Given the description of an element on the screen output the (x, y) to click on. 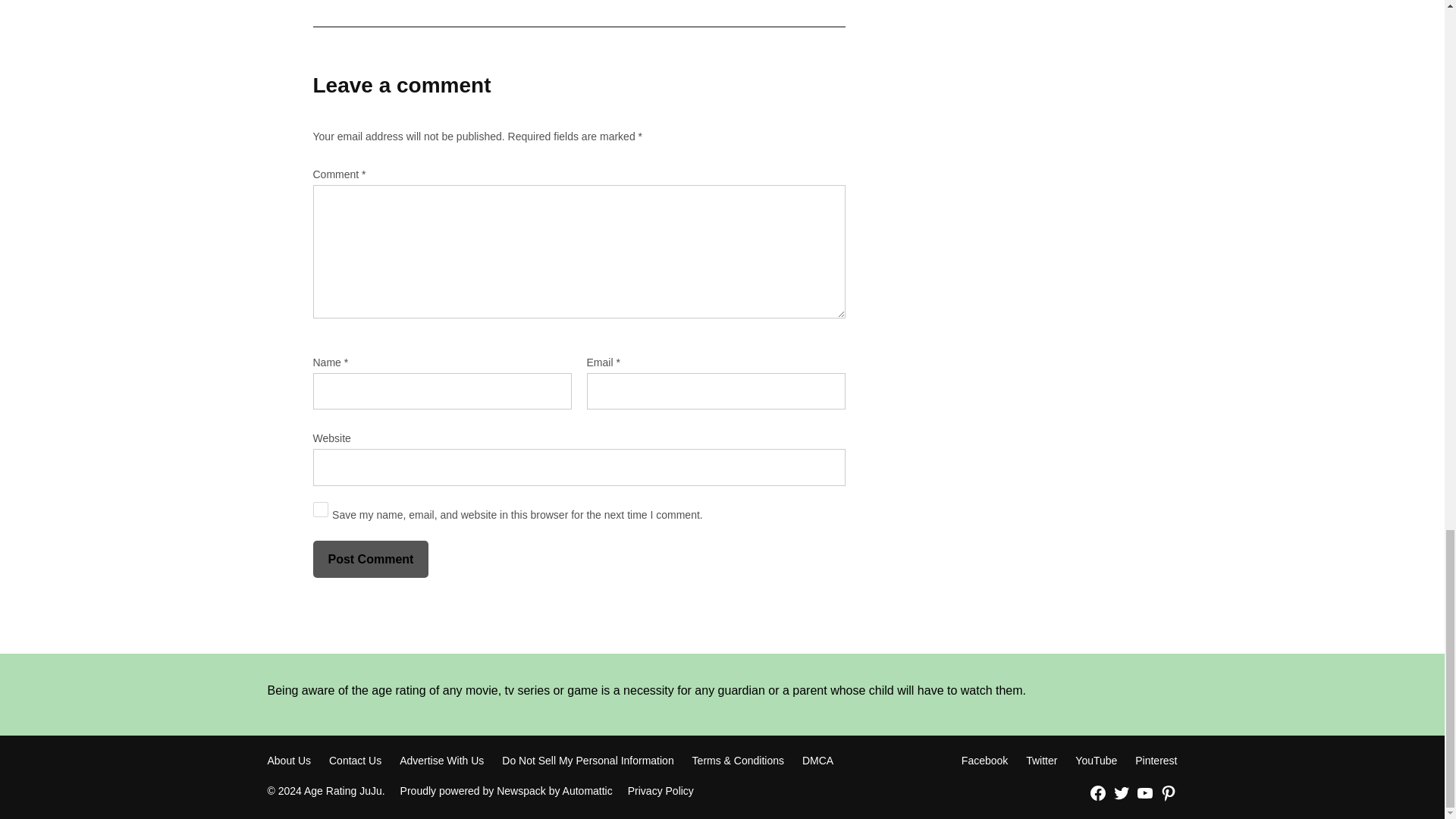
yes (320, 509)
Post Comment (370, 559)
